Given the description of an element on the screen output the (x, y) to click on. 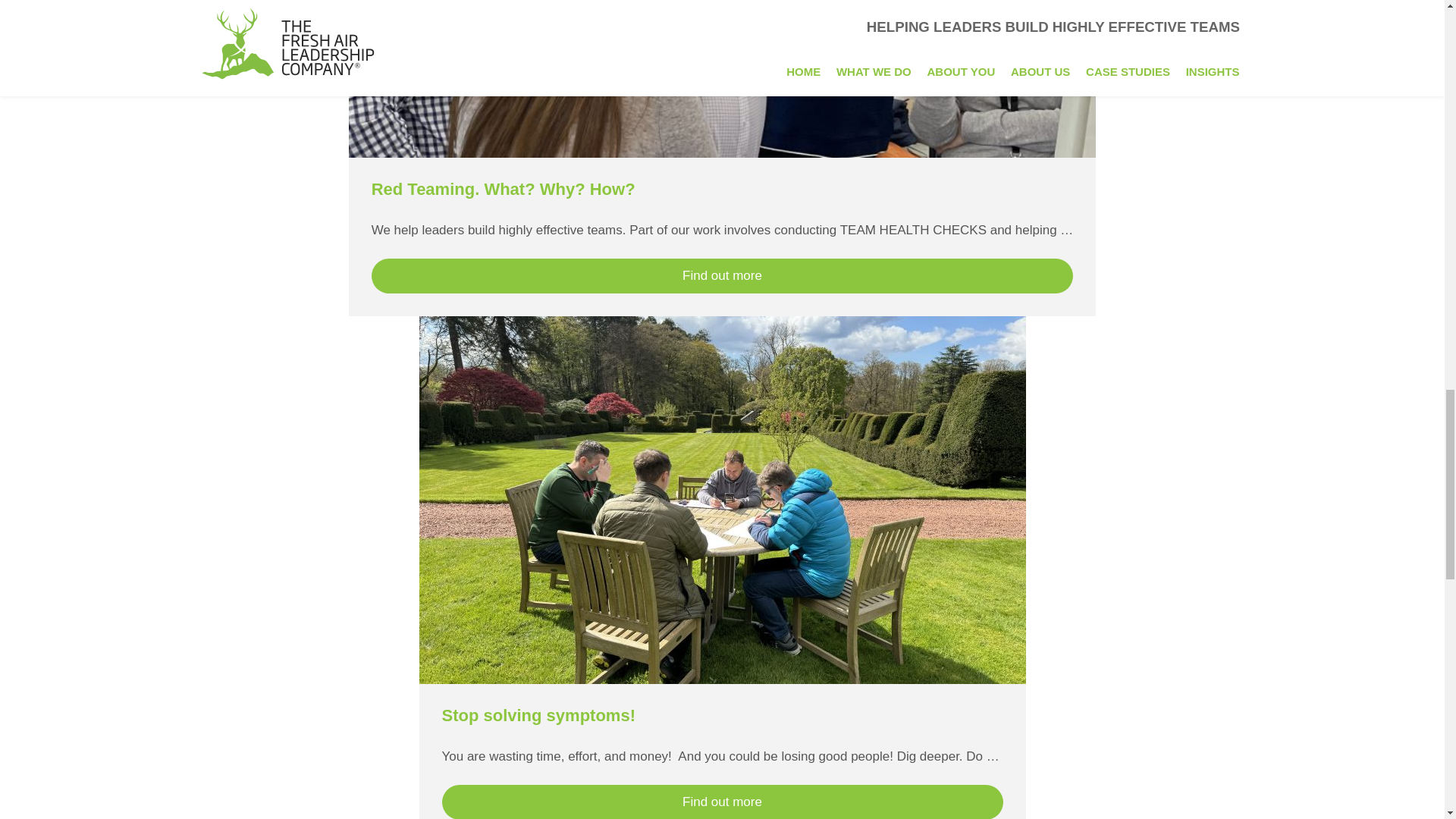
Stop solving symptoms! (537, 714)
Find out more (722, 801)
Find out more (722, 275)
Red Teaming. What? Why? How? (502, 189)
